Given the description of an element on the screen output the (x, y) to click on. 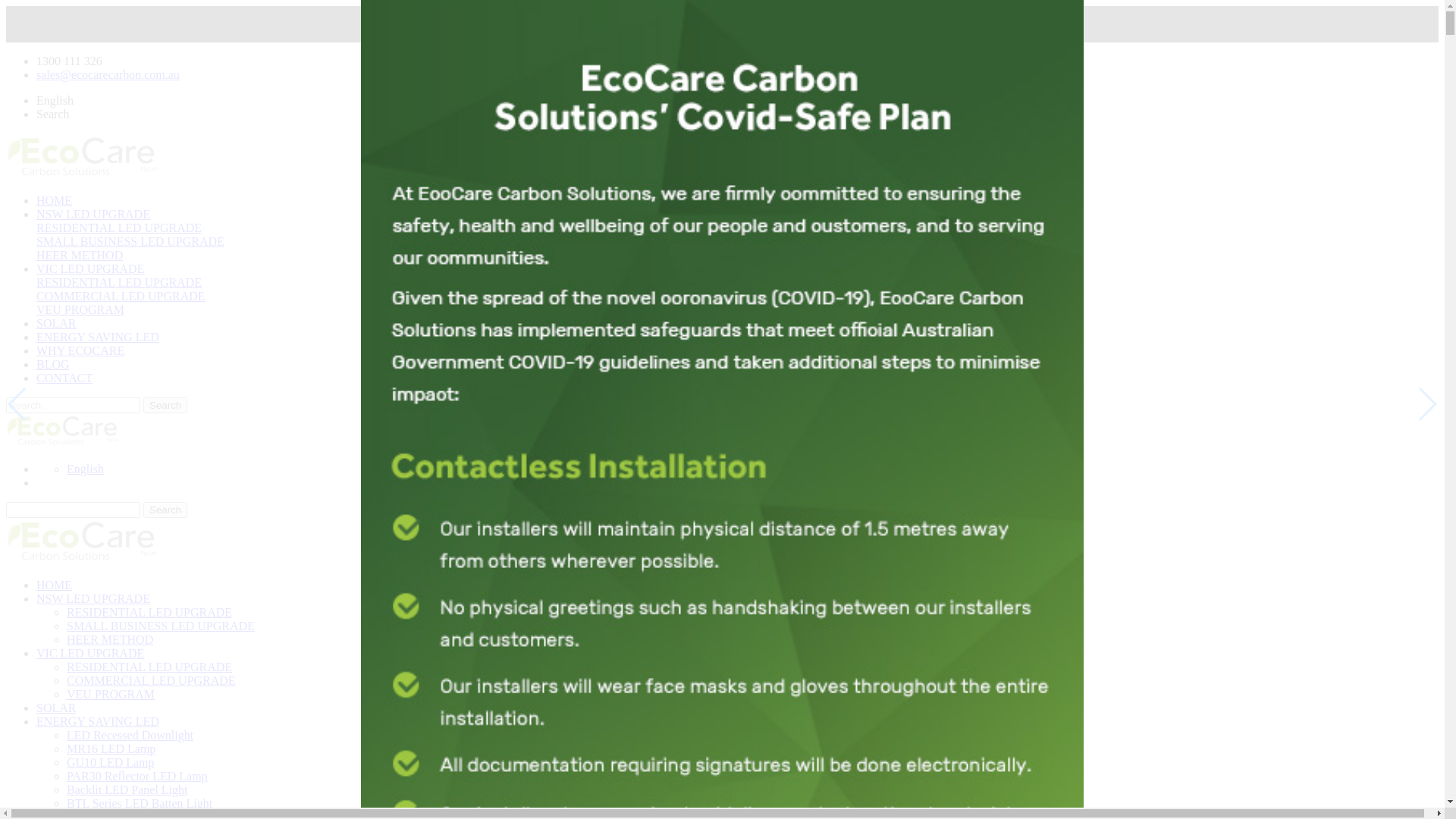
NSW LED UPGRADE Element type: text (93, 598)
COMMERCIAL LED UPGRADE Element type: text (120, 295)
English Element type: text (84, 468)
BLOG Element type: text (52, 363)
ENERGY SAVING LED Element type: text (97, 336)
RESIDENTIAL LED UPGRADE Element type: text (149, 666)
PAR30 Reflector LED Lamp Element type: text (136, 775)
HEER METHOD Element type: text (79, 254)
Search Element type: text (165, 509)
WHY ECOCARE Element type: text (80, 350)
COMMERCIAL LED UPGRADE Element type: text (150, 680)
MR16 LED Lamp Element type: text (110, 748)
GU10 LED Lamp Element type: text (110, 762)
RESIDENTIAL LED UPGRADE Element type: text (118, 227)
VEU PROGRAM Element type: text (110, 693)
VIC LED UPGRADE Element type: text (90, 652)
LED Recessed Downlight Element type: text (129, 734)
VIC LED UPGRADE Element type: text (90, 268)
VEU PROGRAM Element type: text (80, 309)
SMALL BUSINESS LED UPGRADE Element type: text (160, 625)
HOME Element type: text (54, 584)
RESIDENTIAL LED UPGRADE Element type: text (149, 611)
Backlit LED Panel Light Element type: text (127, 789)
CONTACT Element type: text (64, 377)
HOME Element type: text (54, 200)
SOLAR Element type: text (55, 707)
SMALL BUSINESS LED UPGRADE Element type: text (130, 241)
ENERGY SAVING LED Element type: text (97, 721)
BTL Series LED Batten Light Element type: text (139, 803)
NSW LED UPGRADE Element type: text (93, 213)
sales@ecocarecarbon.com.au Element type: text (107, 74)
EcoCare Carbon Solution. Element type: hover (82, 540)
HEER METHOD Element type: text (109, 639)
SOLAR Element type: text (55, 322)
RESIDENTIAL LED UPGRADE Element type: text (118, 282)
Search Element type: text (165, 405)
EcoCare Carbon Solution. Element type: hover (62, 430)
